Given the description of an element on the screen output the (x, y) to click on. 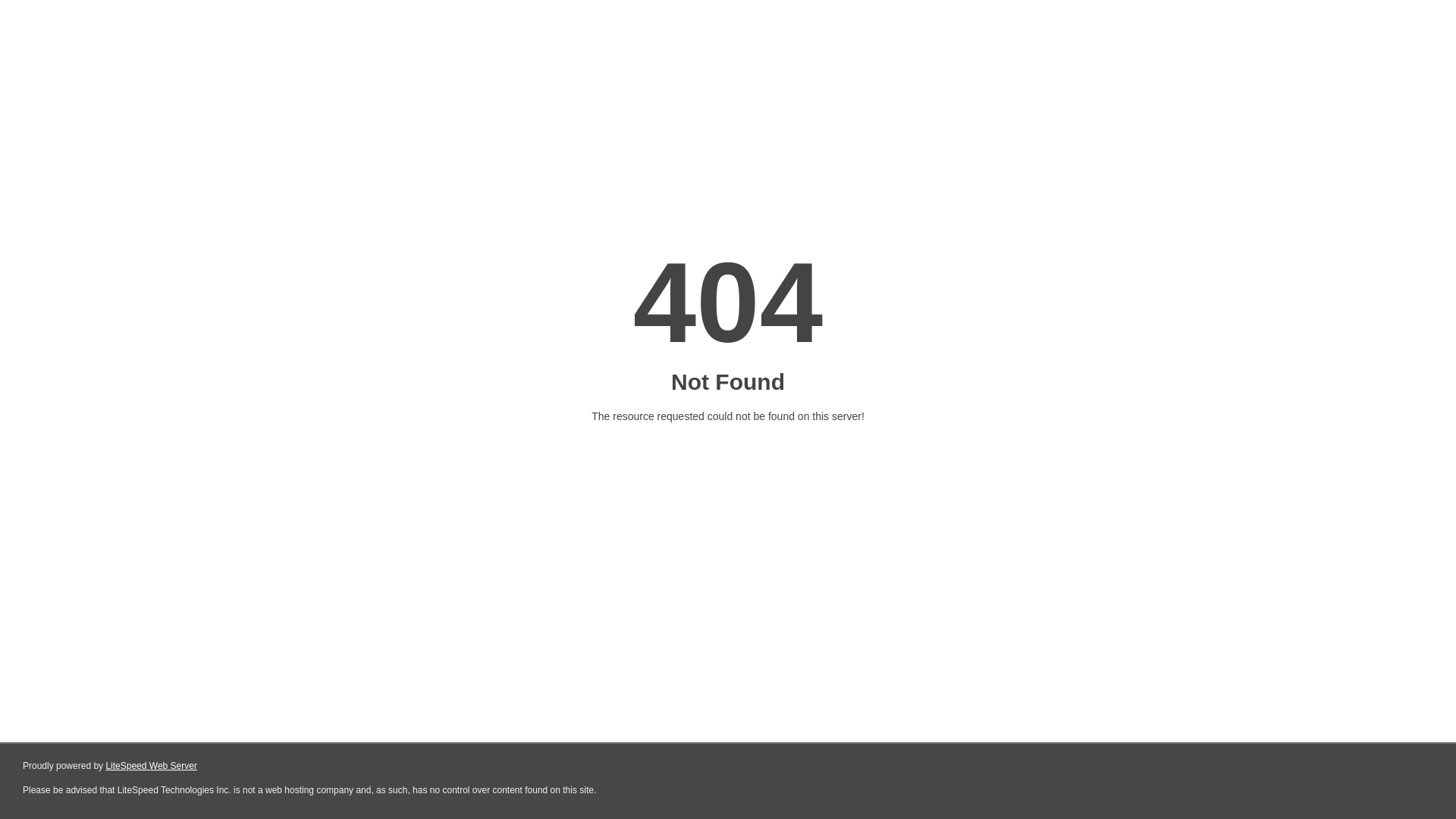
LiteSpeed Web Server Element type: text (151, 765)
